Given the description of an element on the screen output the (x, y) to click on. 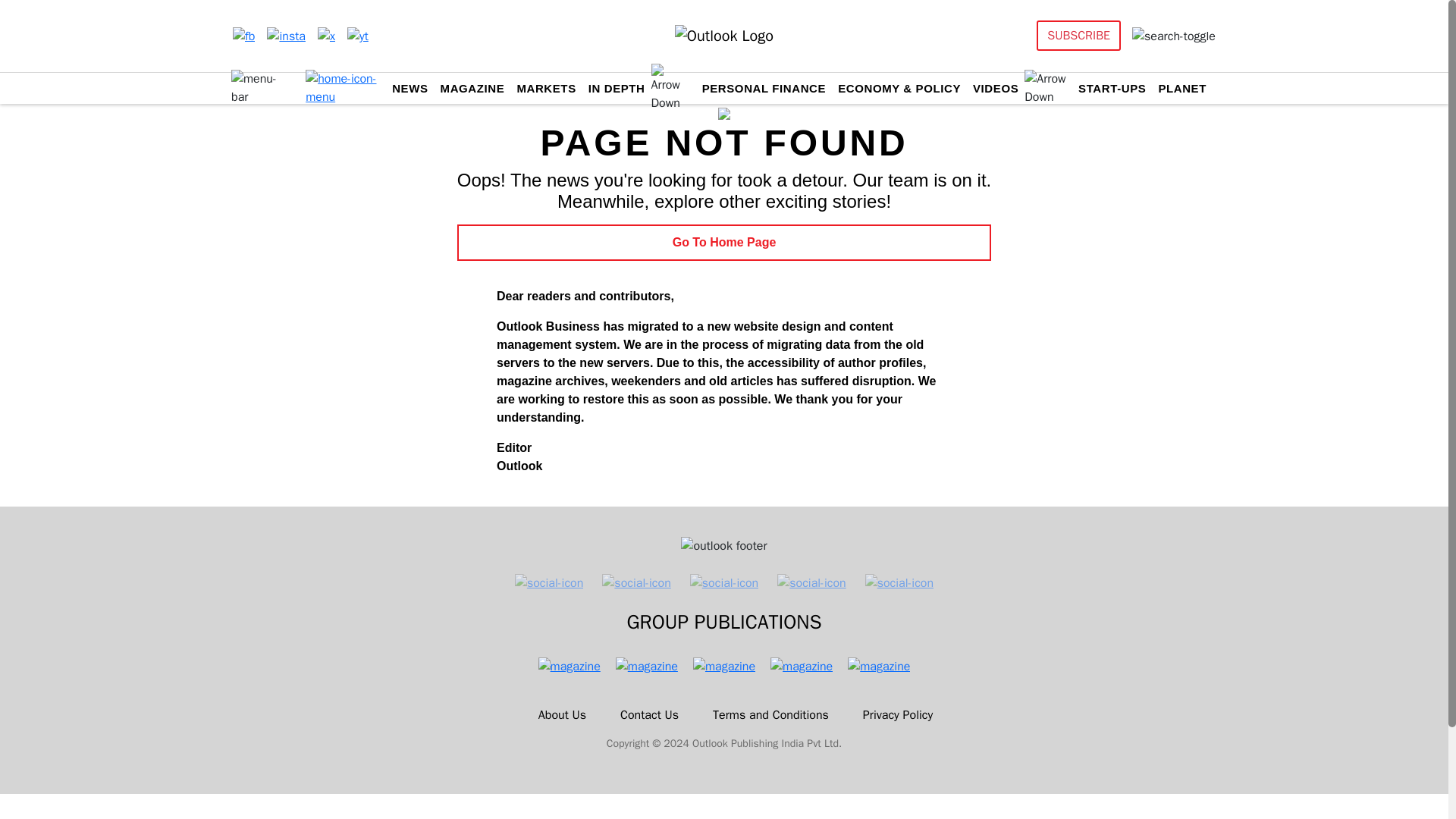
MARKETS (545, 88)
PLANET (1182, 88)
NEWS (409, 88)
START-UPS (1111, 88)
VIDEOS (994, 88)
IN DEPTH (616, 88)
PERSONAL FINANCE (764, 88)
SUBSCRIBE (1078, 35)
MAGAZINE (473, 88)
